Given the description of an element on the screen output the (x, y) to click on. 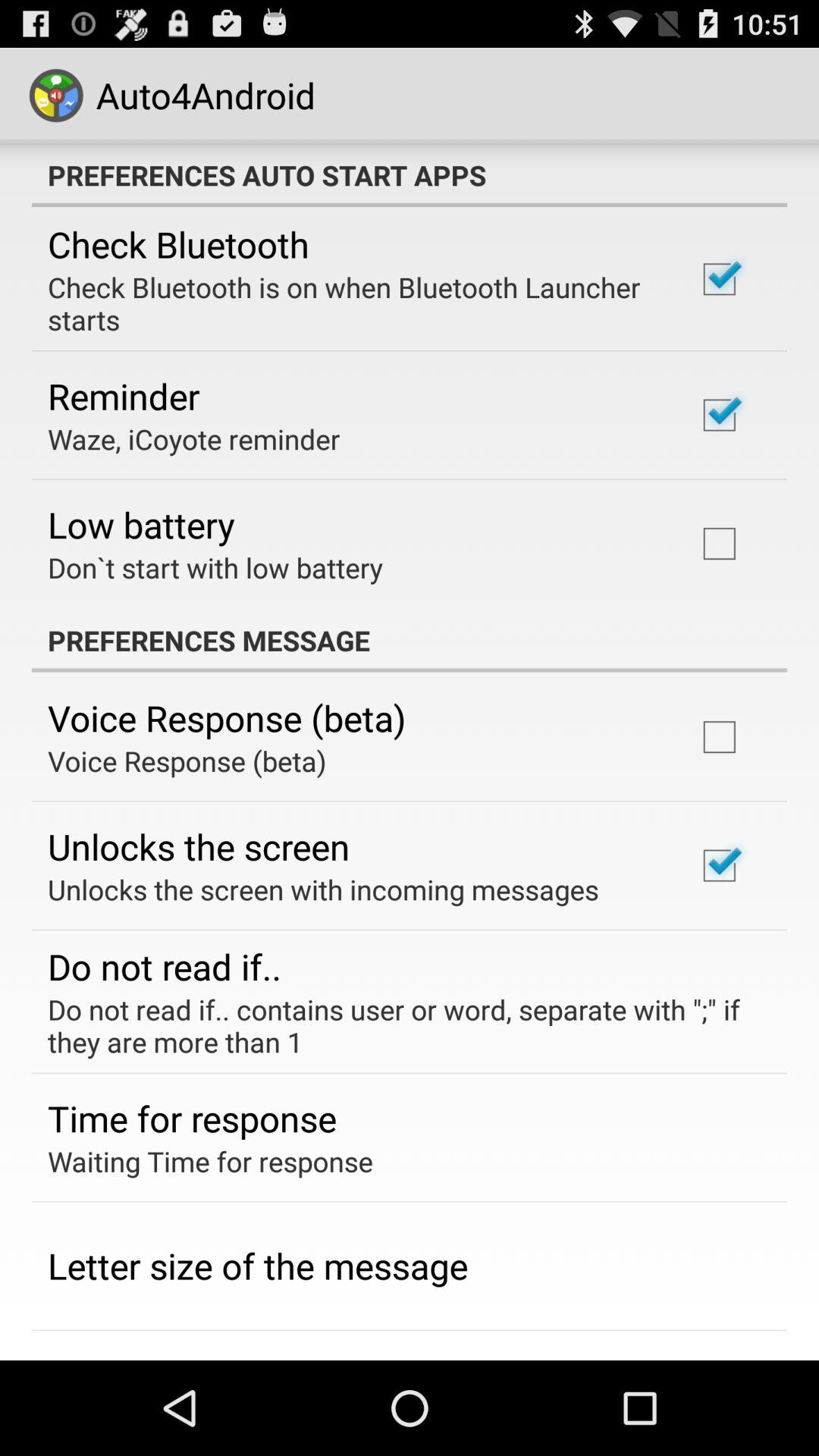
select the don t start item (214, 567)
